Given the description of an element on the screen output the (x, y) to click on. 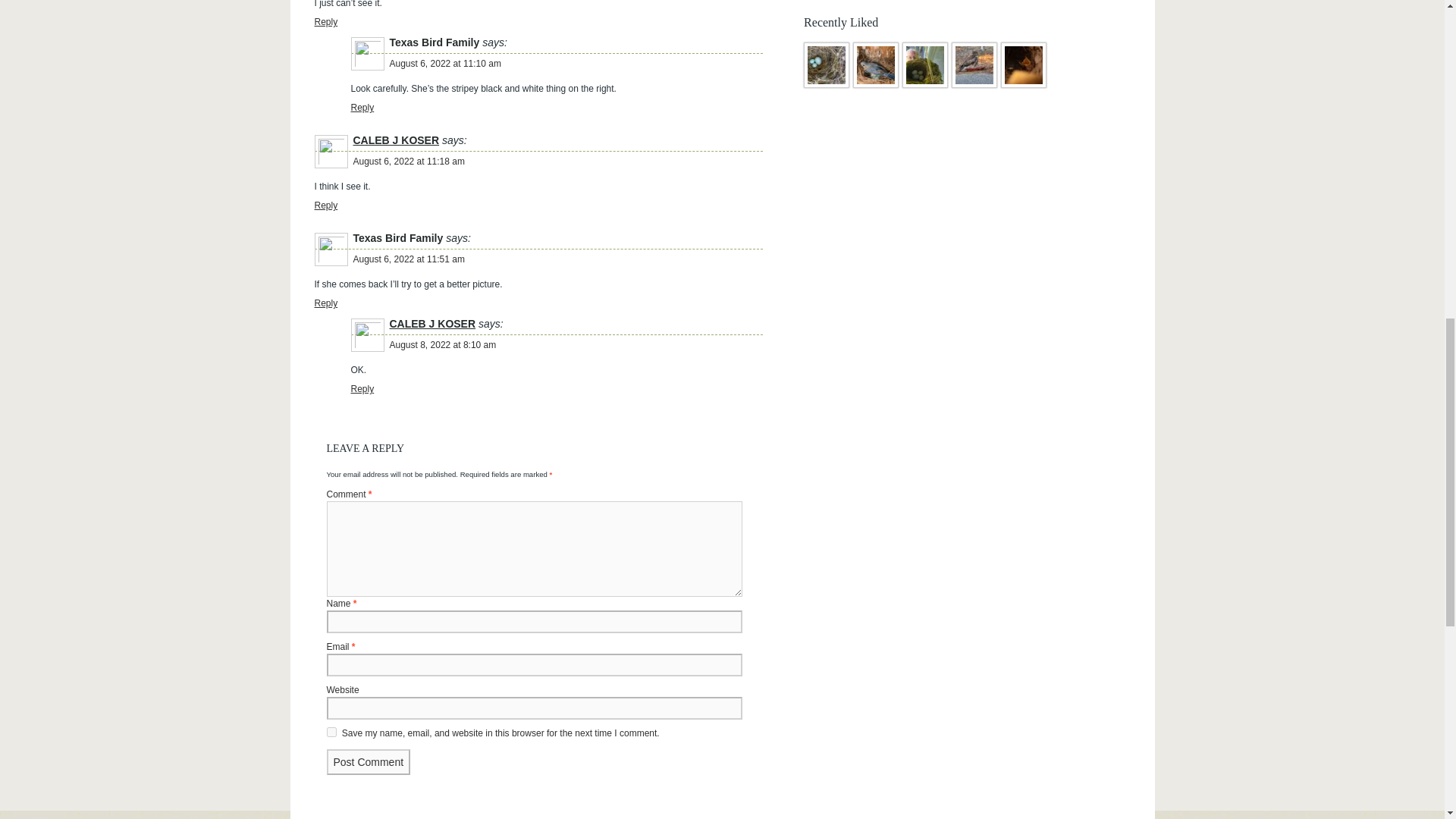
yes (331, 732)
Post Comment (368, 761)
